Given the description of an element on the screen output the (x, y) to click on. 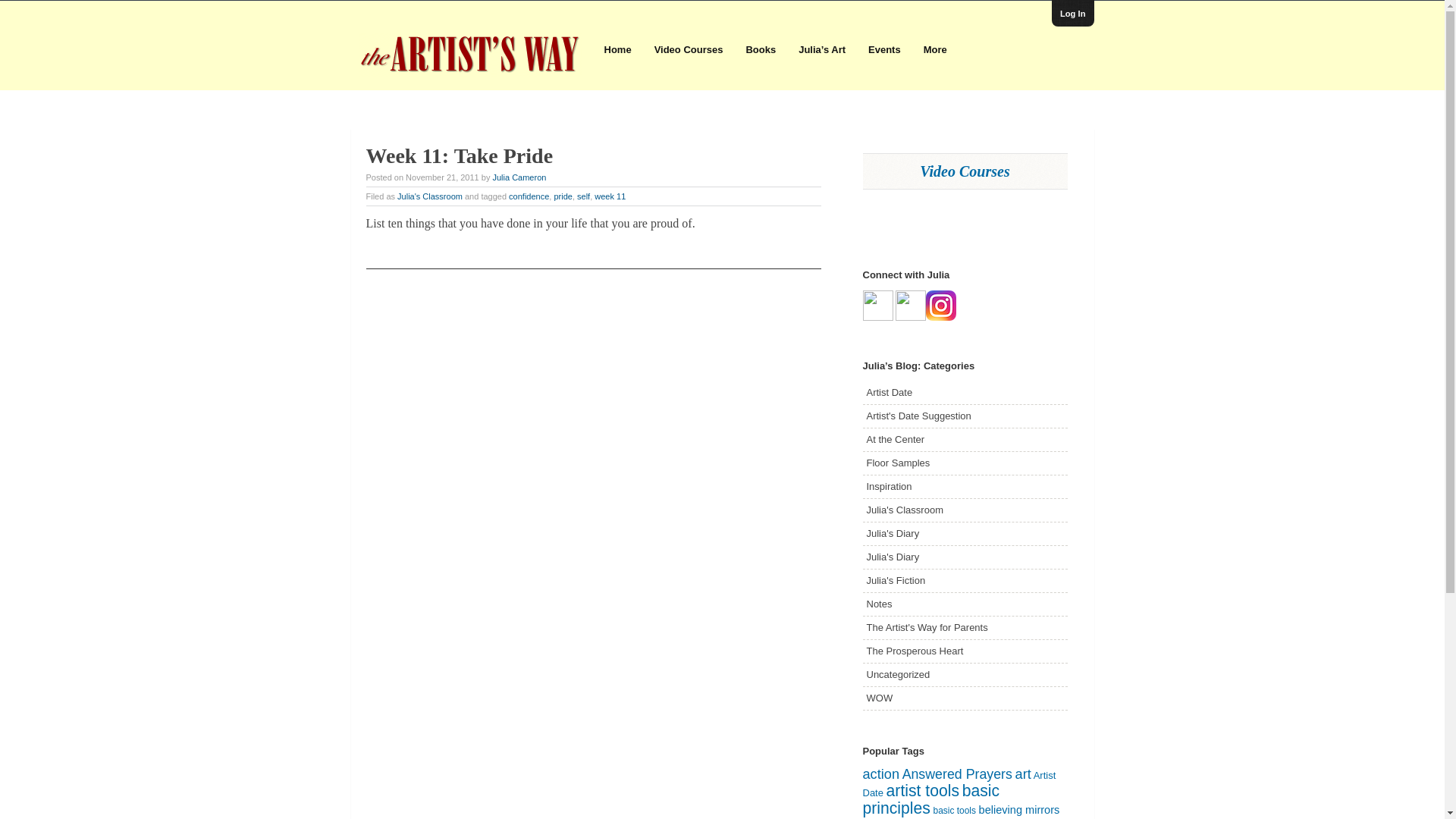
Video Courses (964, 170)
pride (562, 195)
confidence (528, 195)
More (935, 49)
Log In (1073, 13)
Julia's Classroom (430, 195)
Permanent Link to Week 11: Take Pride (459, 155)
Home (617, 49)
Posts by Julia Cameron (519, 176)
Pricing (964, 170)
self (582, 195)
week 11 (610, 195)
Julia Cameron (519, 176)
Events (884, 49)
Books (760, 49)
